Given the description of an element on the screen output the (x, y) to click on. 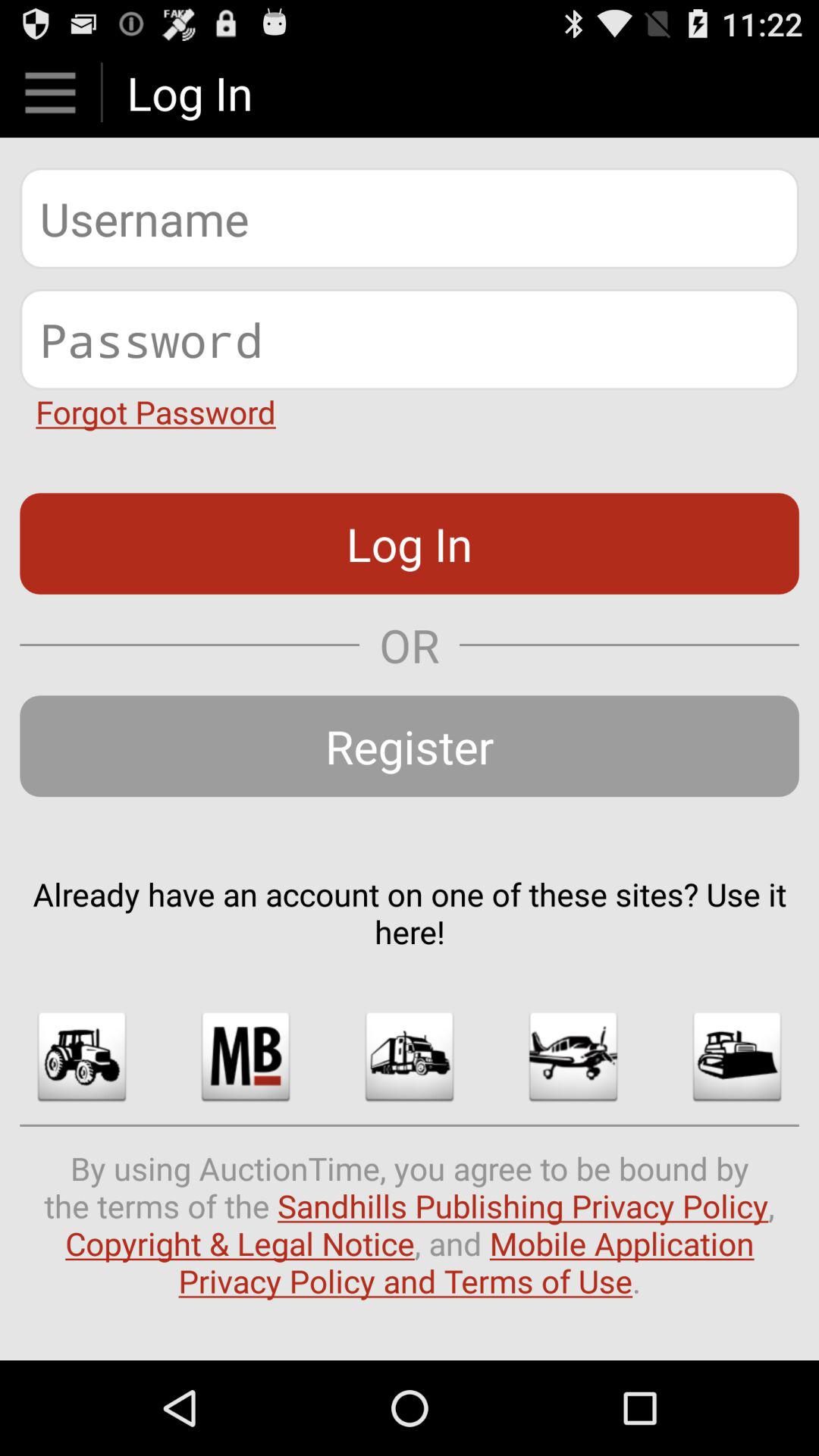
enter username (409, 218)
